Given the description of an element on the screen output the (x, y) to click on. 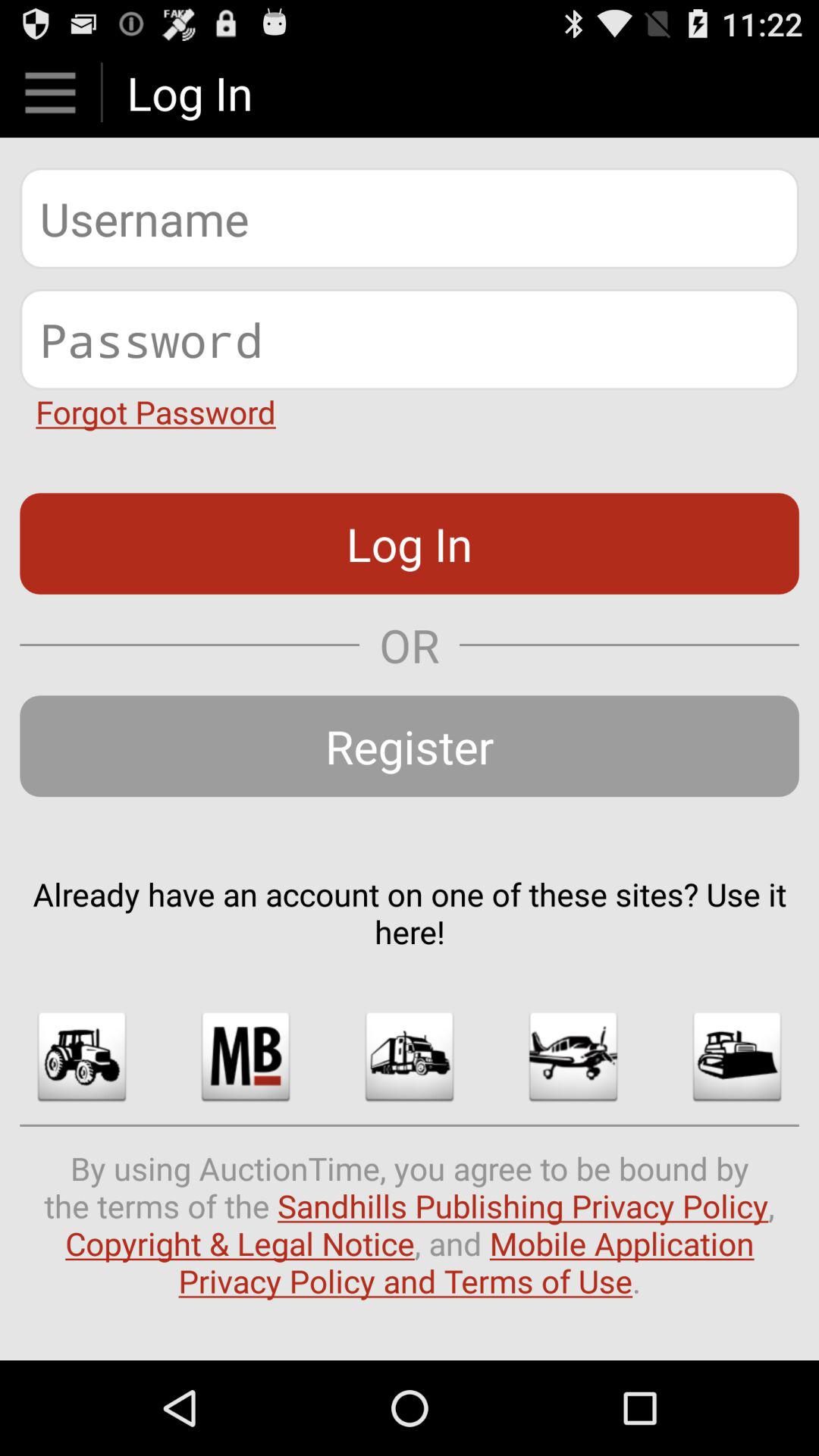
enter username (409, 218)
